Given the description of an element on the screen output the (x, y) to click on. 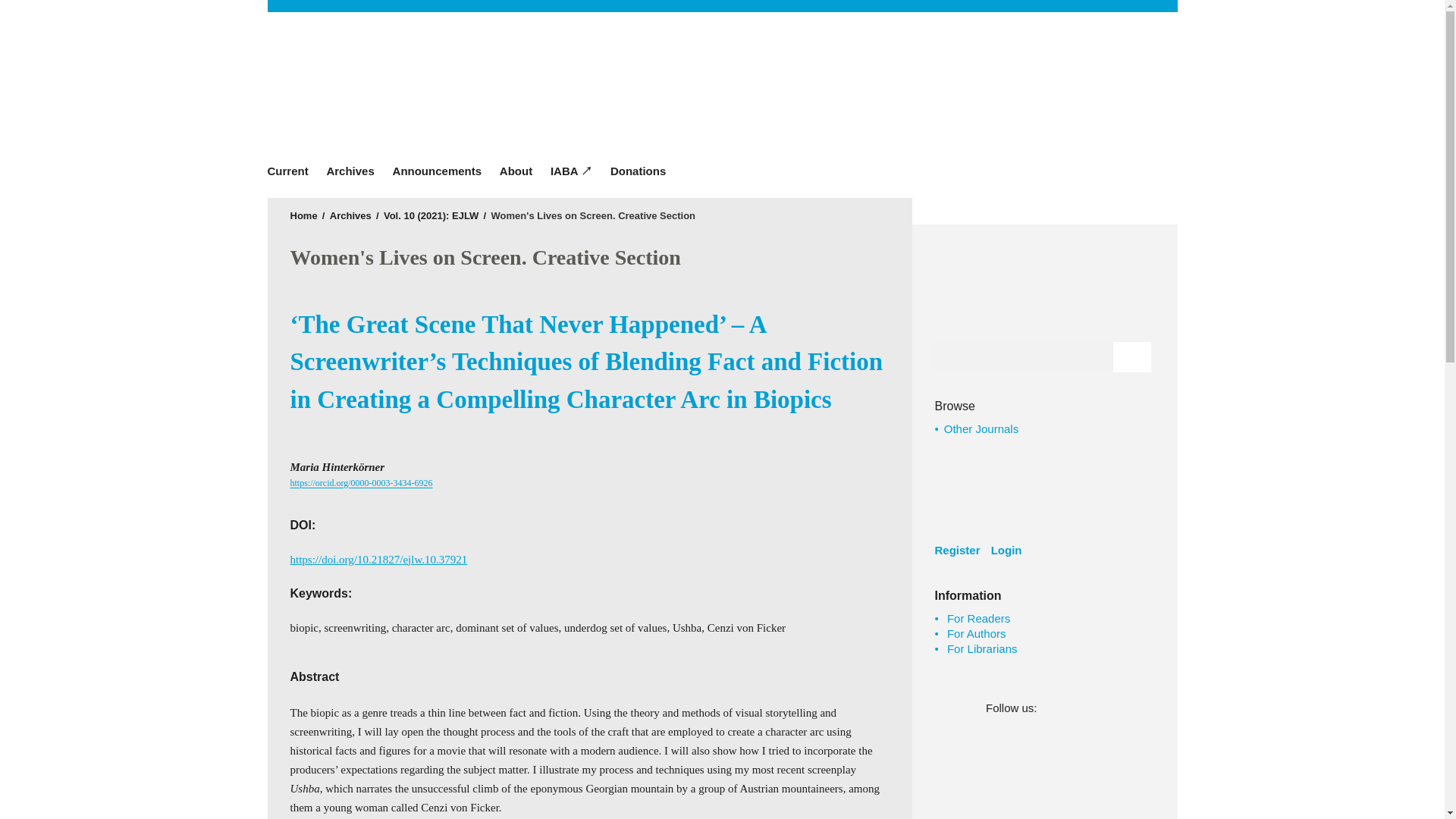
Login (1010, 549)
Current (290, 170)
Search (1132, 357)
Other Journals (980, 428)
Archives (350, 215)
Home (303, 215)
Announcements (437, 170)
University of Groningen Press (941, 91)
Register (960, 549)
Archives (349, 170)
